Given the description of an element on the screen output the (x, y) to click on. 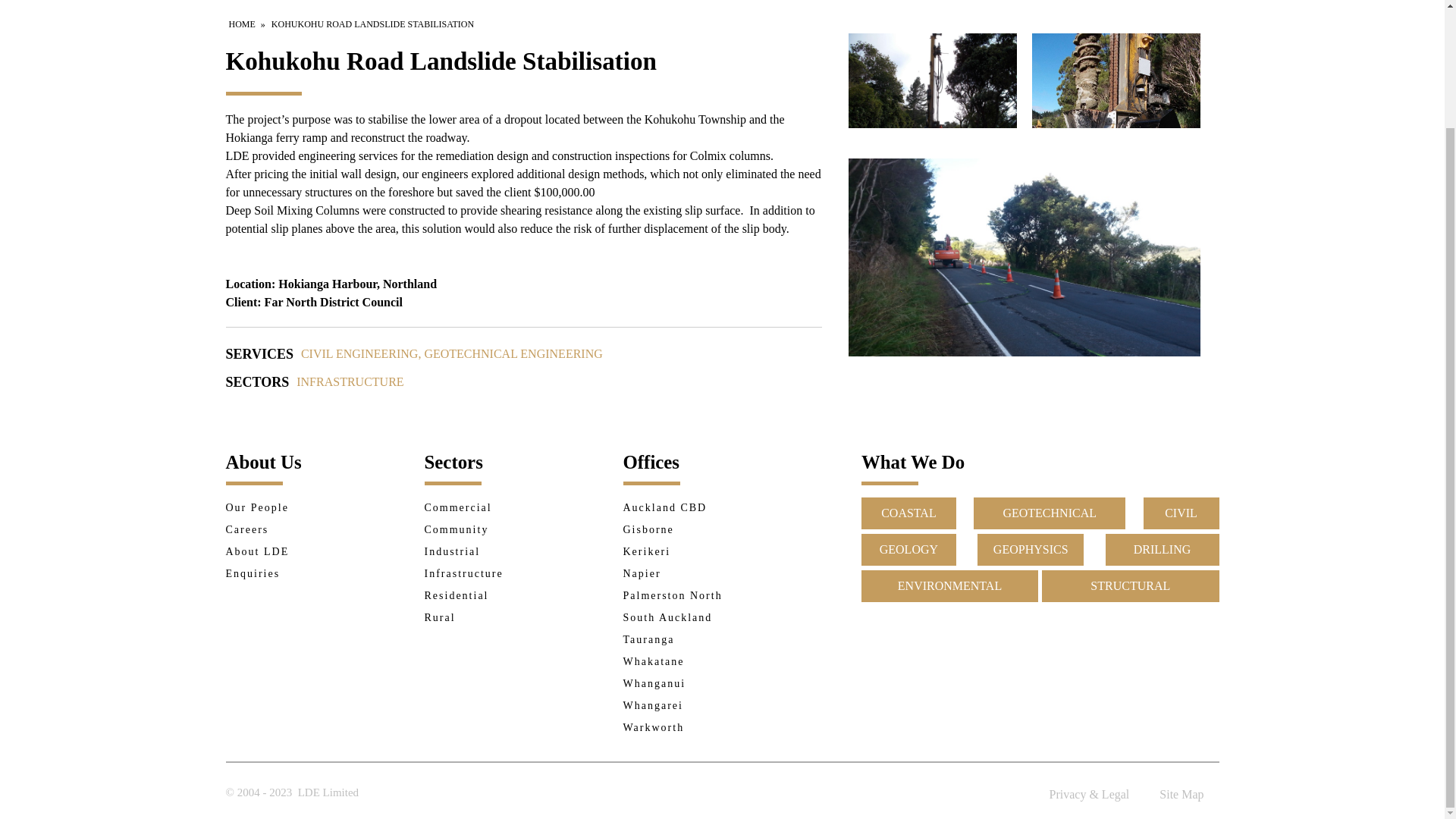
Breadcrumb link to Home (242, 23)
